Given the description of an element on the screen output the (x, y) to click on. 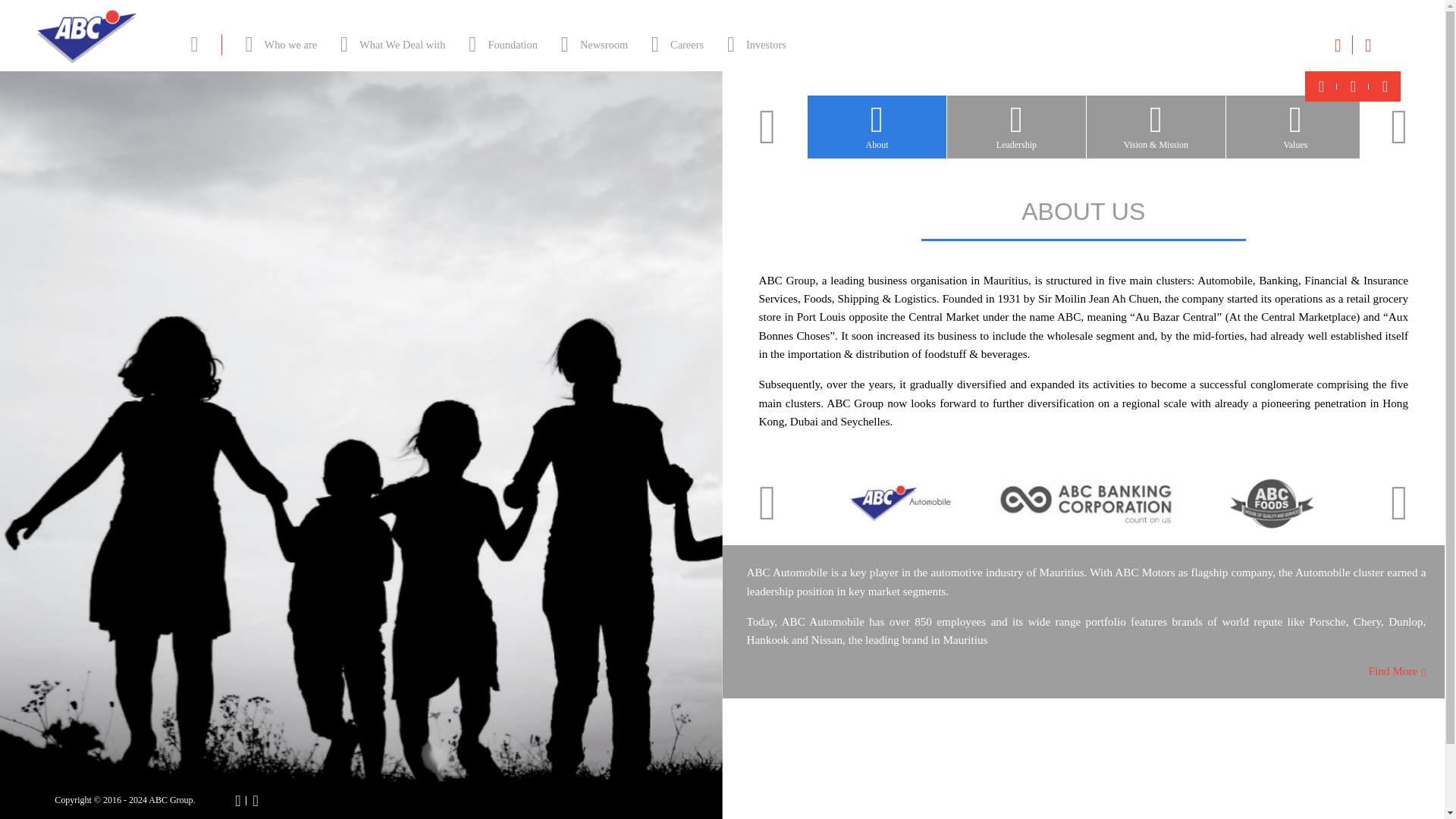
Find More (1397, 670)
Who we are (275, 44)
Investors (751, 44)
Foundation (497, 44)
About (876, 126)
What We Deal with (387, 44)
Careers (671, 44)
Leadership (1015, 126)
Newsroom (588, 44)
Values (1294, 126)
